Given the description of an element on the screen output the (x, y) to click on. 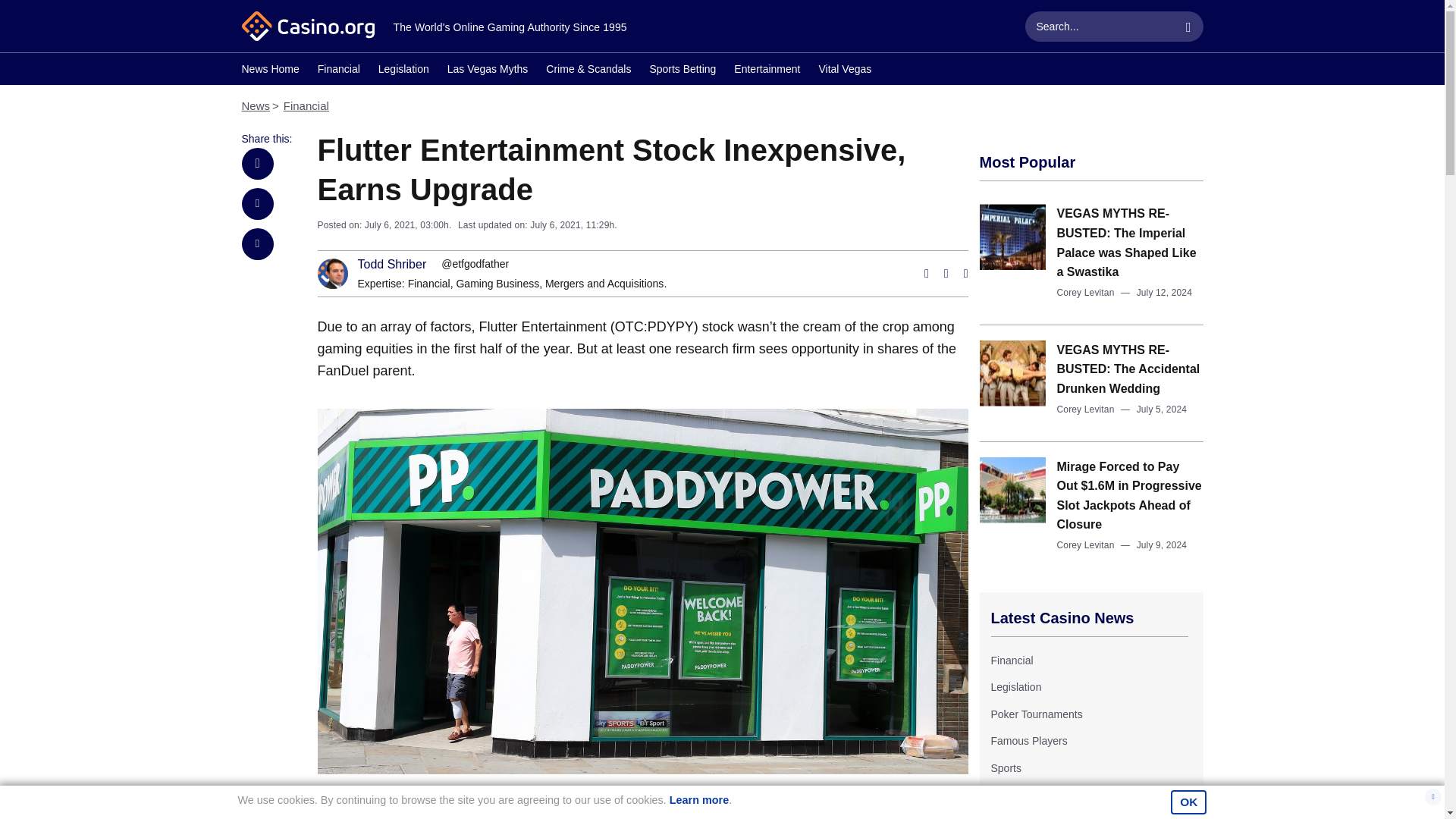
Financial (338, 70)
Financial (428, 283)
Corey Levitan (1086, 544)
Vital Vegas (845, 70)
Financial (428, 283)
Famous Players (1028, 740)
Entertainment (766, 70)
News (255, 105)
Gaming Business (496, 283)
Corey Levitan (1086, 292)
Mobile Gaming (1025, 794)
VEGAS MYTHS RE-BUSTED: The Accidental Drunken Wedding (1128, 368)
Todd Shriber (392, 264)
Poker Tournaments (1035, 714)
Mergers and Acquisitions (603, 283)
